Given the description of an element on the screen output the (x, y) to click on. 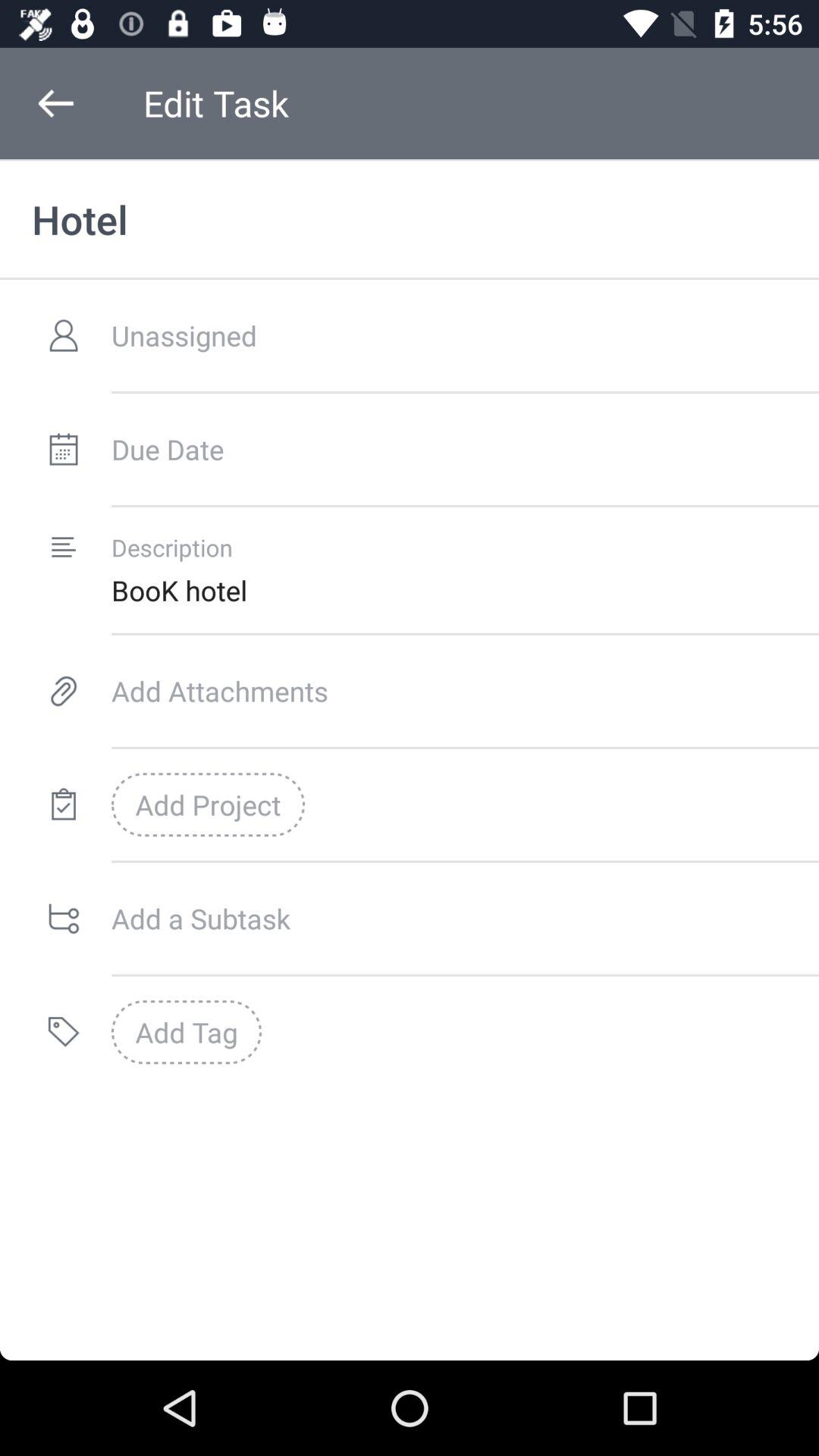
press the item below description item (465, 590)
